Given the description of an element on the screen output the (x, y) to click on. 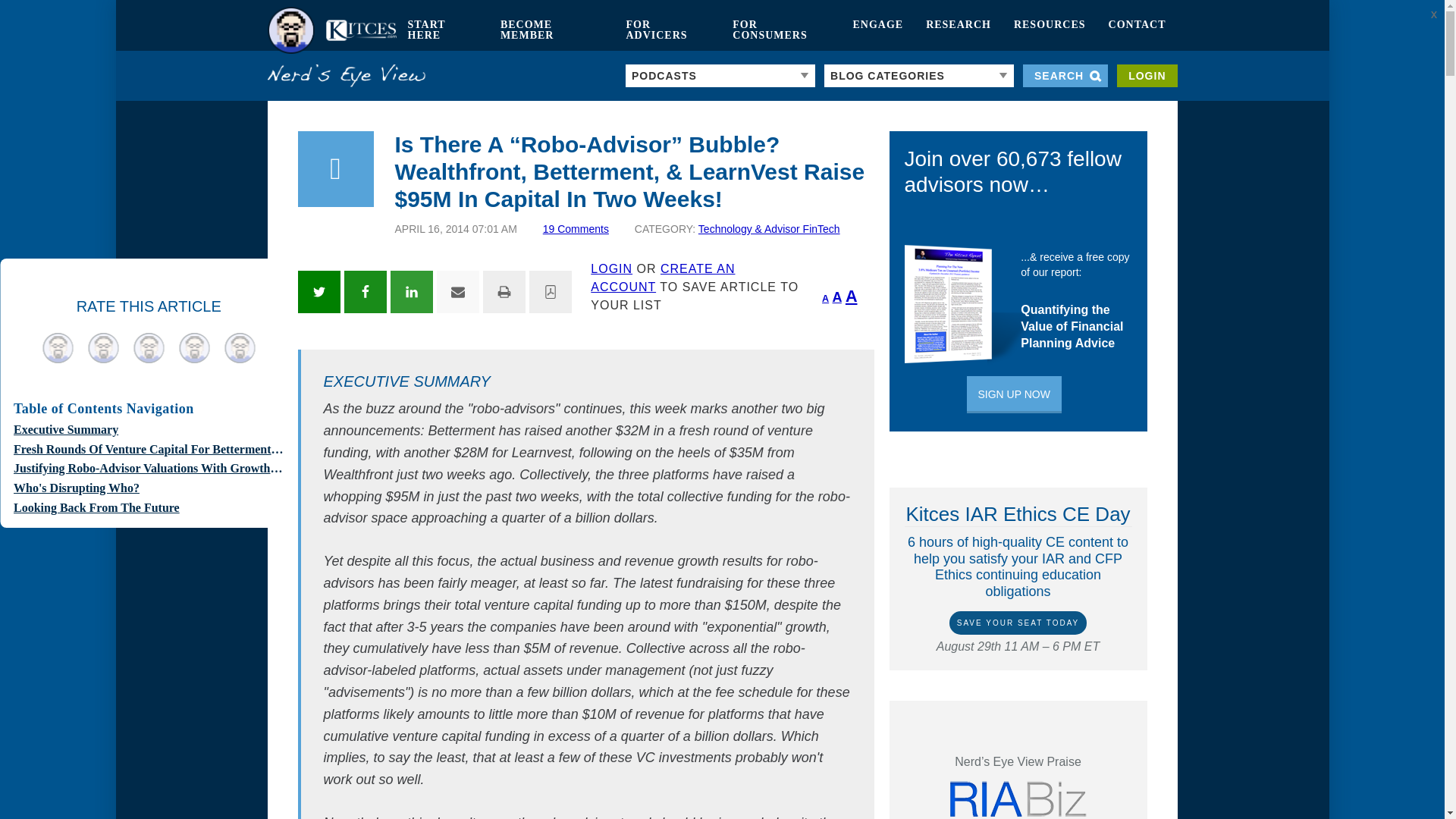
RESOURCES (1050, 30)
Kitces.com (331, 29)
Share via Email (457, 291)
Share on Twitter (318, 291)
FOR CONSUMERS (780, 30)
ENGAGE (877, 30)
RESEARCH (958, 30)
START HERE (441, 30)
FOR ADVICERS (667, 30)
BECOME MEMBER (551, 30)
CONTACT (1137, 30)
Share on LinkedIn (411, 291)
Share on Facebook (365, 291)
